Given the description of an element on the screen output the (x, y) to click on. 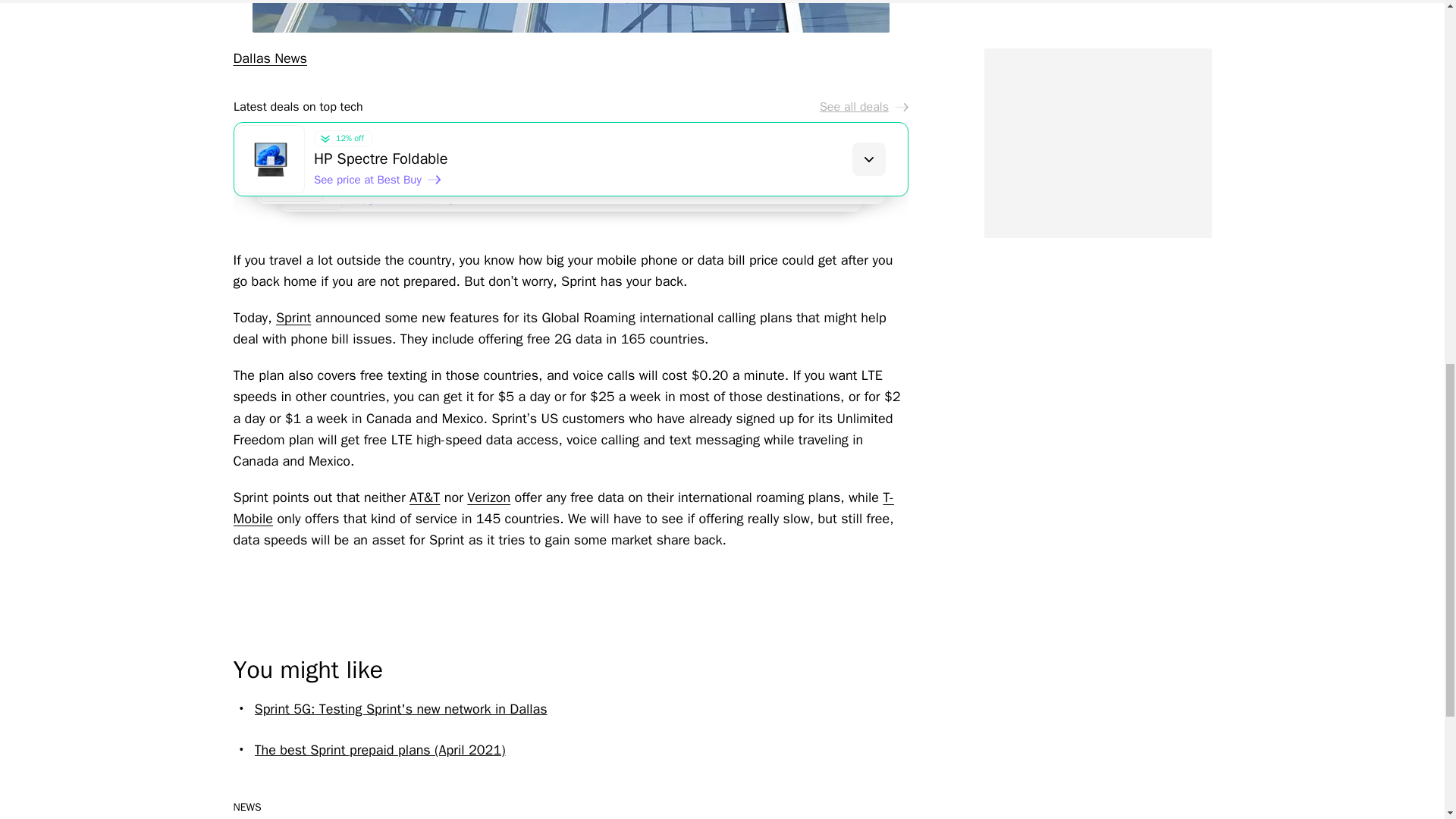
Sprint store (569, 16)
See all deals (862, 106)
HP Spectre Foldable (609, 158)
See price at Amazon (391, 192)
See price at Best Buy (377, 179)
Dallas News (269, 57)
Sprint (293, 317)
See price at Amazon (409, 205)
Verizon (489, 497)
